Given the description of an element on the screen output the (x, y) to click on. 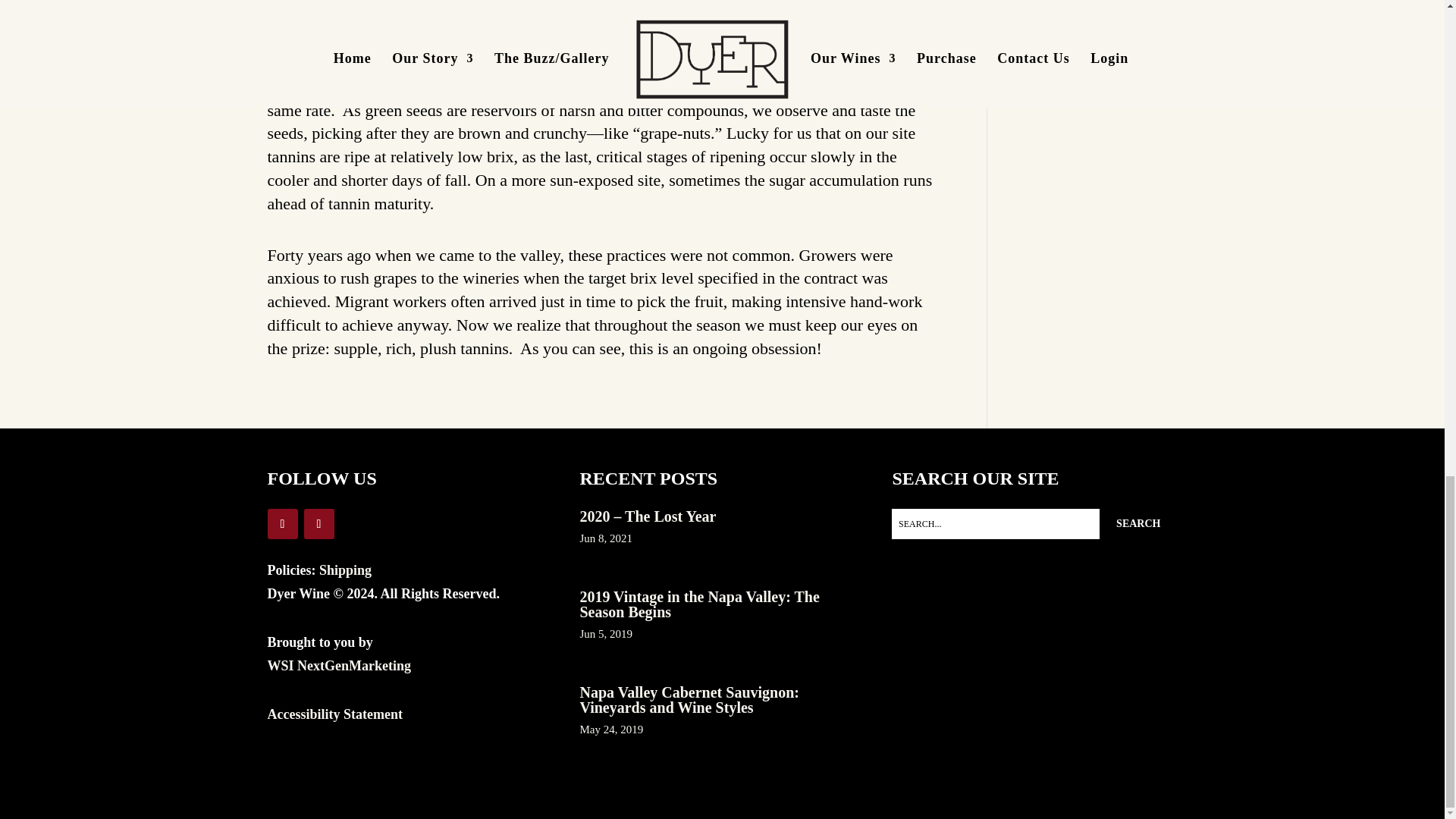
Search (1137, 523)
Search (1137, 523)
